Given the description of an element on the screen output the (x, y) to click on. 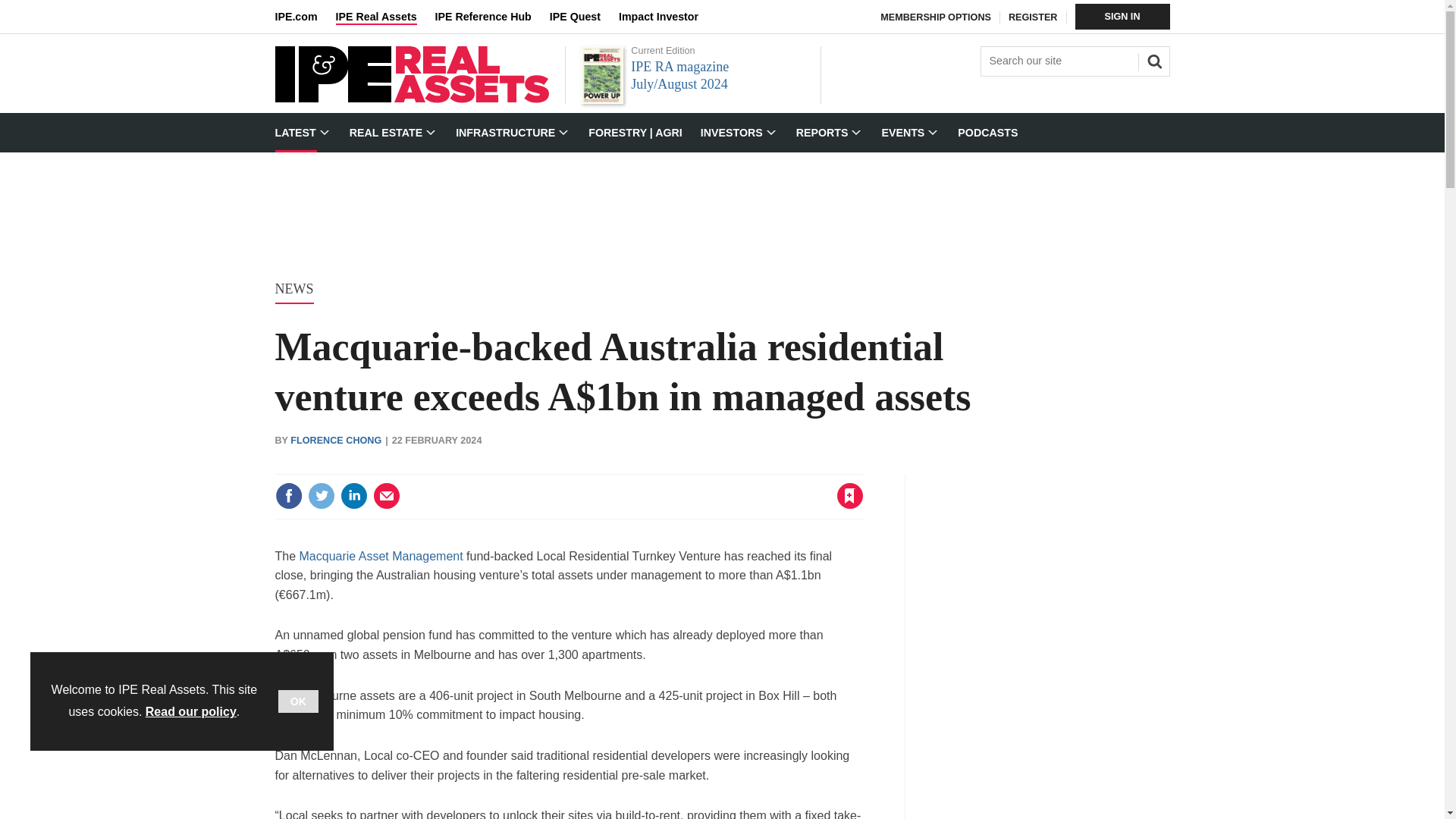
IPE.com (304, 16)
SIGN IN (1122, 16)
Share this on Facebook (288, 495)
OK (298, 701)
Real Assets (411, 98)
MEMBERSHIP OPTIONS (935, 17)
SEARCH (1152, 59)
REGISTER (1033, 17)
Impact Investor (667, 16)
Impact Investor (667, 16)
IPE Reference Hub (491, 16)
Share this on Twitter (320, 495)
IPE Quest (583, 16)
Share this on Linked in (352, 495)
IPE Quest (583, 16)
